Given the description of an element on the screen output the (x, y) to click on. 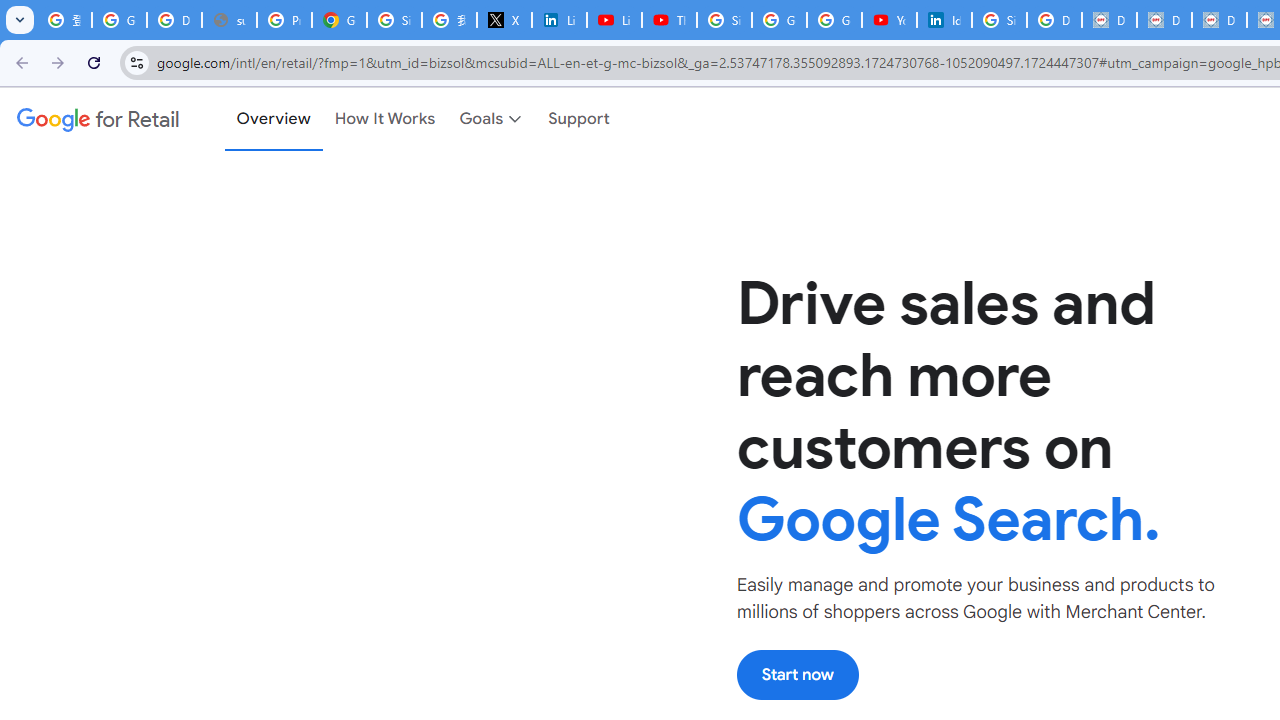
X (504, 20)
support.google.com - Network error (229, 20)
Start now (797, 673)
How It Works (385, 119)
Privacy Help Center - Policies Help (284, 20)
Data Privacy Framework (1163, 20)
Goals (491, 119)
